Given the description of an element on the screen output the (x, y) to click on. 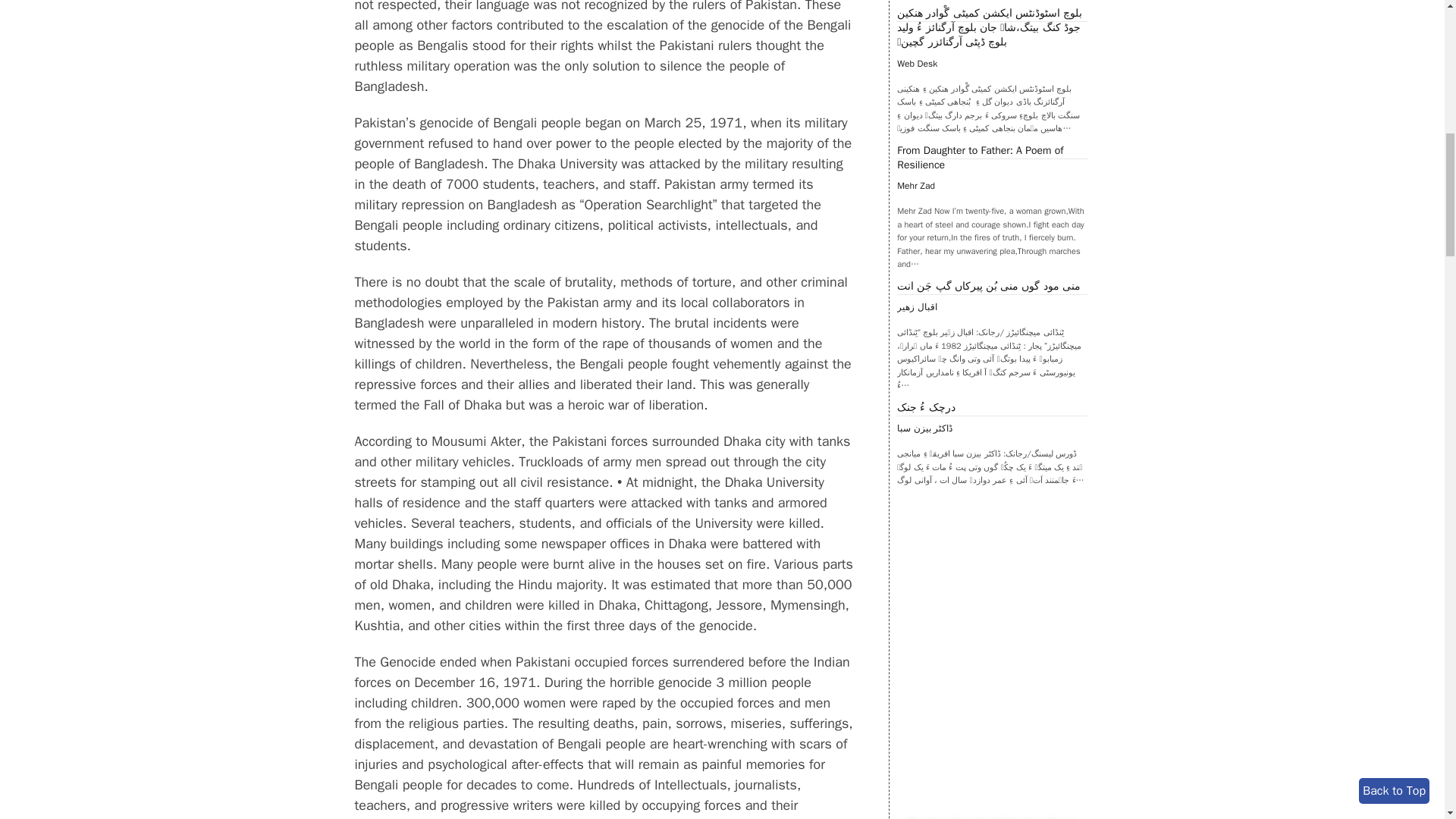
Posts by Web Desk (916, 63)
Posts by Mehr Zad (915, 185)
